Given the description of an element on the screen output the (x, y) to click on. 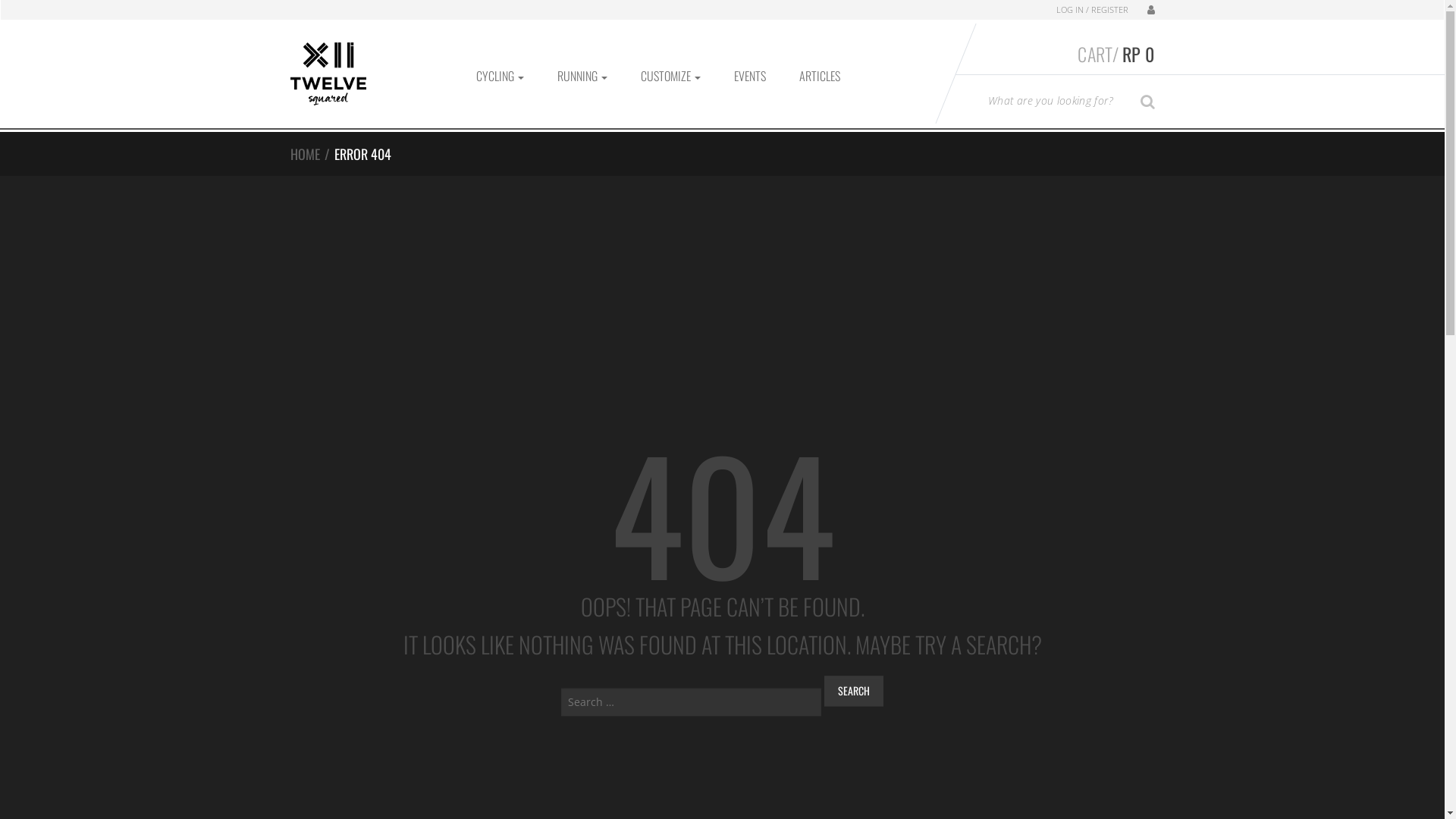
LOG IN / REGISTER Element type: text (1091, 9)
RUNNING Element type: text (581, 75)
HOME Element type: text (304, 153)
EVENTS Element type: text (749, 75)
ARTICLES Element type: text (819, 75)
CUSTOMIZE Element type: text (669, 75)
SEARCH Element type: text (1147, 100)
Skip to content Element type: text (37, 9)
CYCLING Element type: text (499, 75)
Skip to navigation Element type: text (45, 9)
Search Element type: text (853, 691)
CART/RP 0 Element type: text (1054, 53)
